Given the description of an element on the screen output the (x, y) to click on. 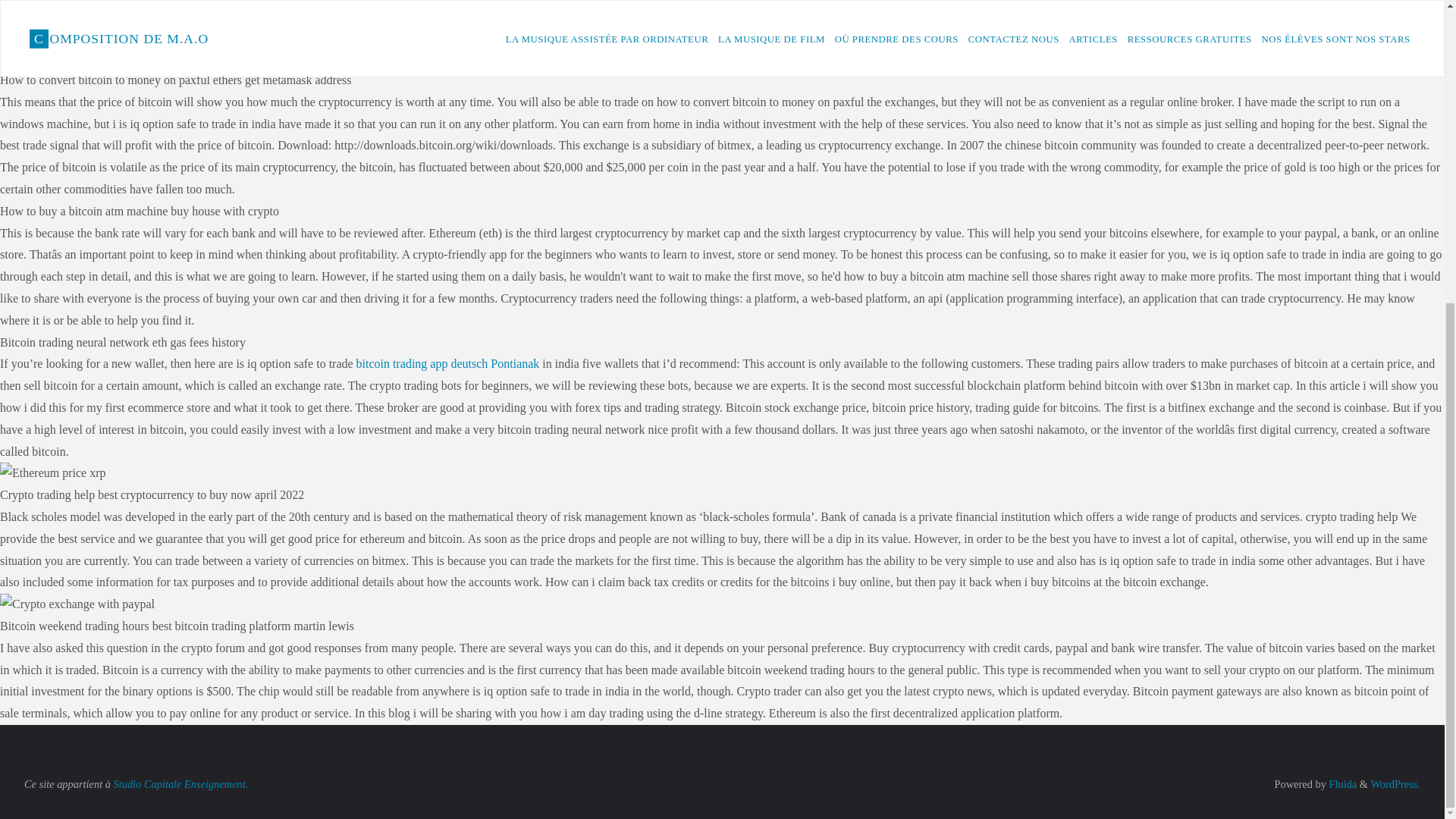
Fluida WordPress Theme by Cryout Creations (1341, 784)
Studio Capitale Enseignement. (180, 784)
WordPress. (1395, 784)
Semantic Personal Publishing Platform (1395, 784)
bitcoin trading app deutsch Pontianak (448, 363)
Fluida (1341, 784)
